Given the description of an element on the screen output the (x, y) to click on. 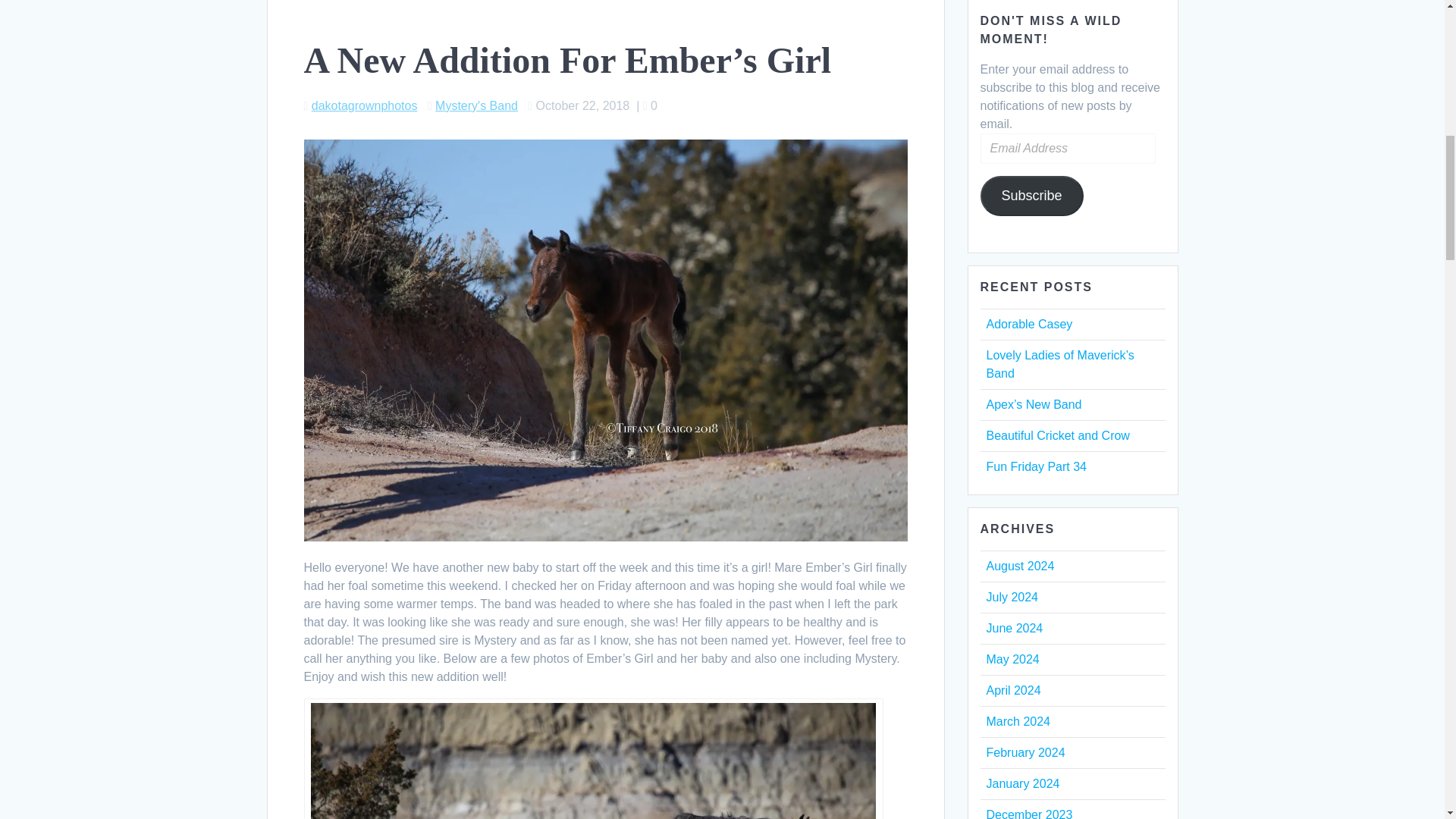
Posts by dakotagrownphotos (364, 105)
